Given the description of an element on the screen output the (x, y) to click on. 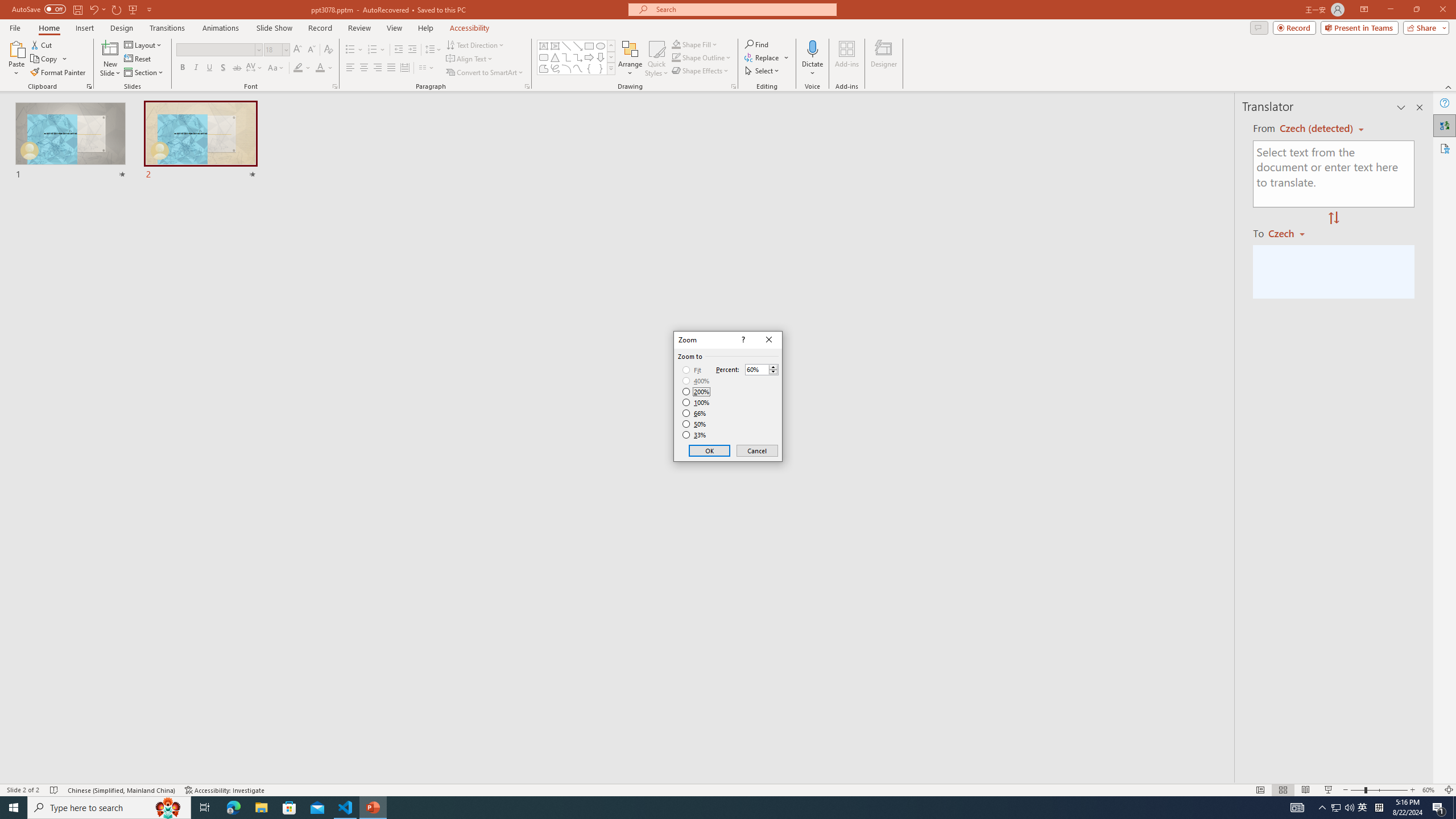
Microsoft Edge (233, 807)
Running applications (707, 807)
